Given the description of an element on the screen output the (x, y) to click on. 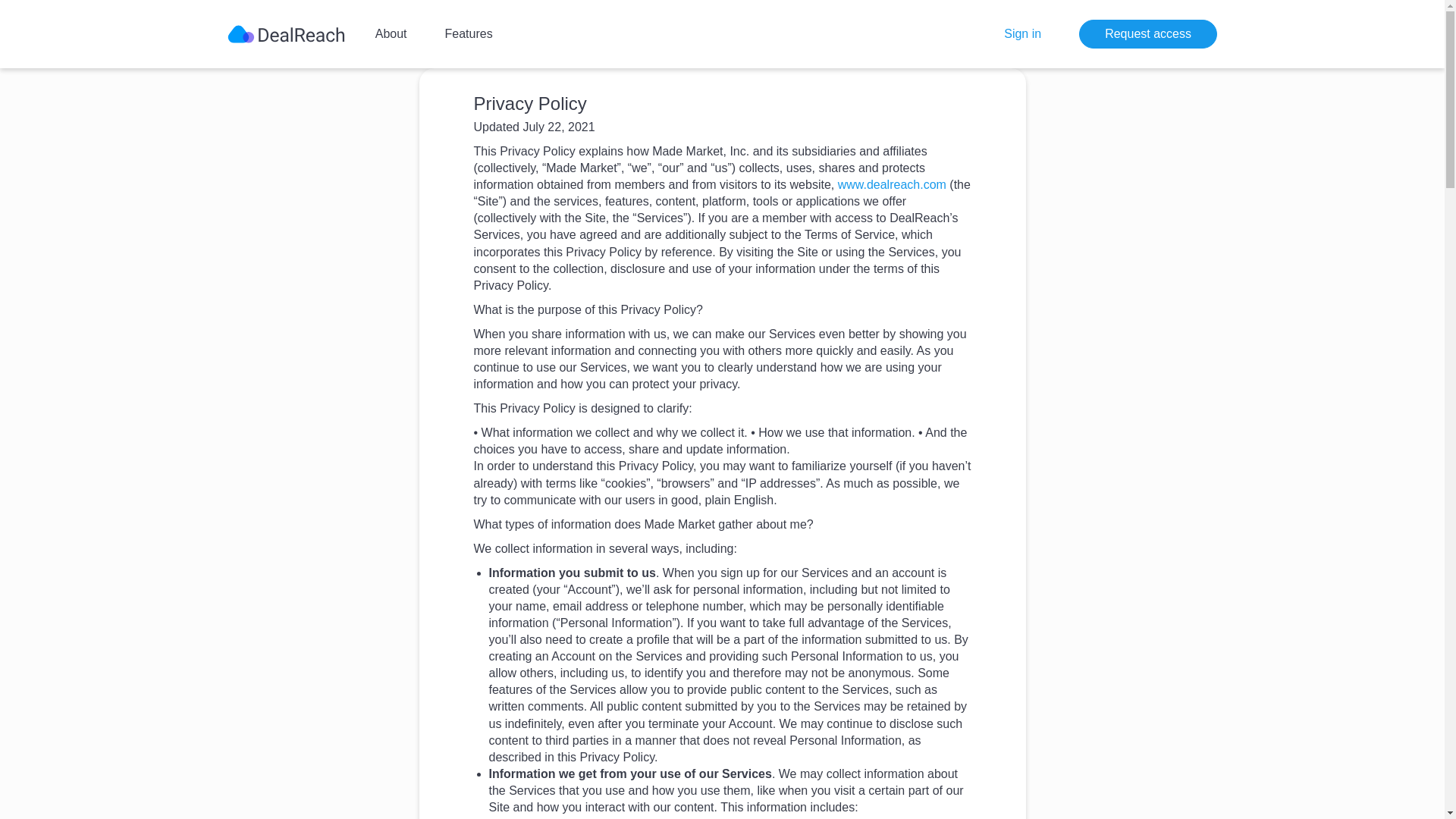
Request access (1147, 33)
Features (469, 33)
www.dealreach.com (892, 184)
About (391, 33)
Sign in (1022, 33)
